Given the description of an element on the screen output the (x, y) to click on. 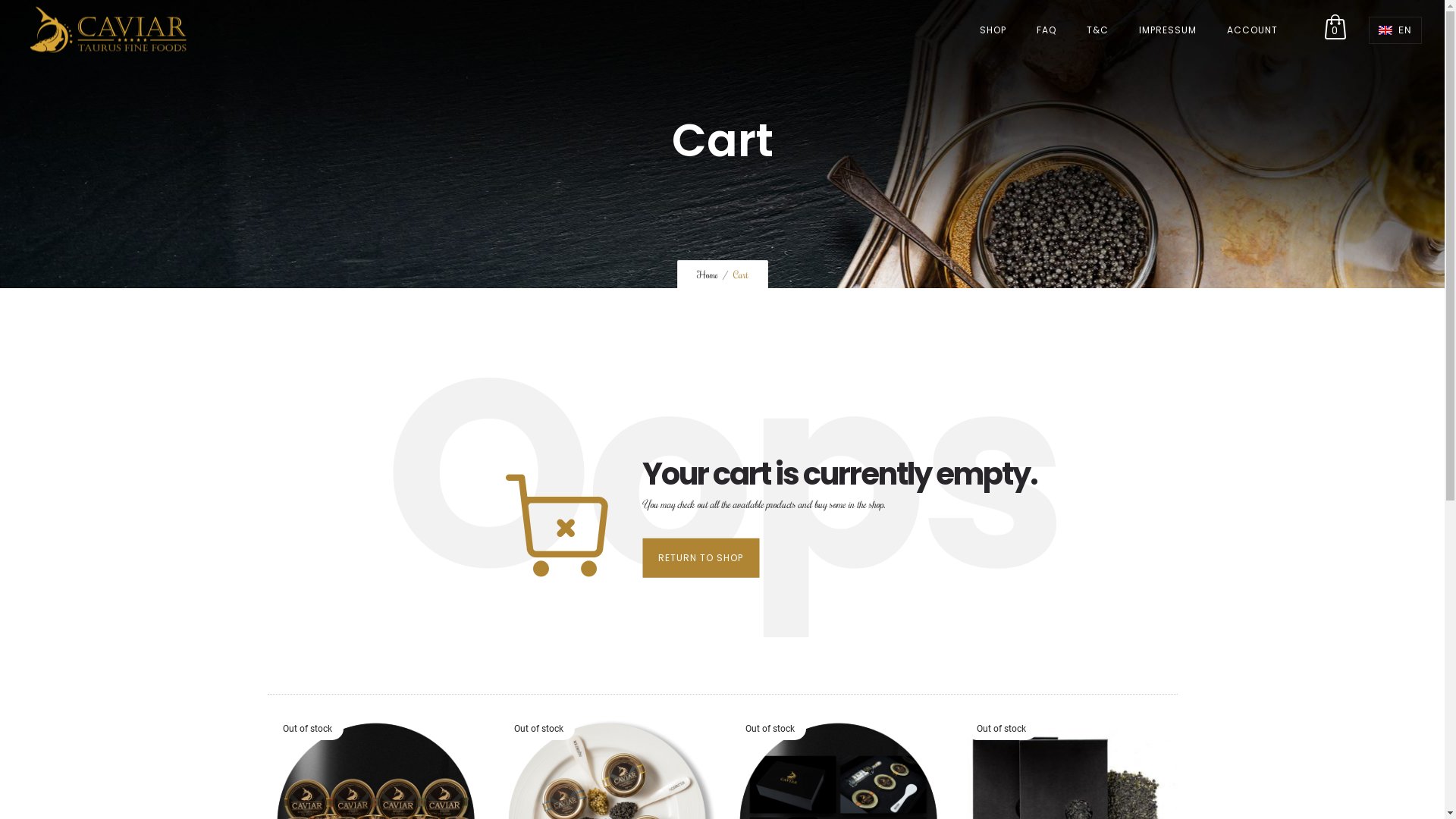
FAQ Element type: text (1046, 30)
0 Element type: text (1334, 30)
RETURN TO SHOP Element type: text (700, 557)
IMPRESSUM Element type: text (1167, 30)
ACCOUNT Element type: text (1251, 30)
SHOP Element type: text (992, 30)
T&C Element type: text (1097, 30)
Home Element type: text (706, 274)
